Given the description of an element on the screen output the (x, y) to click on. 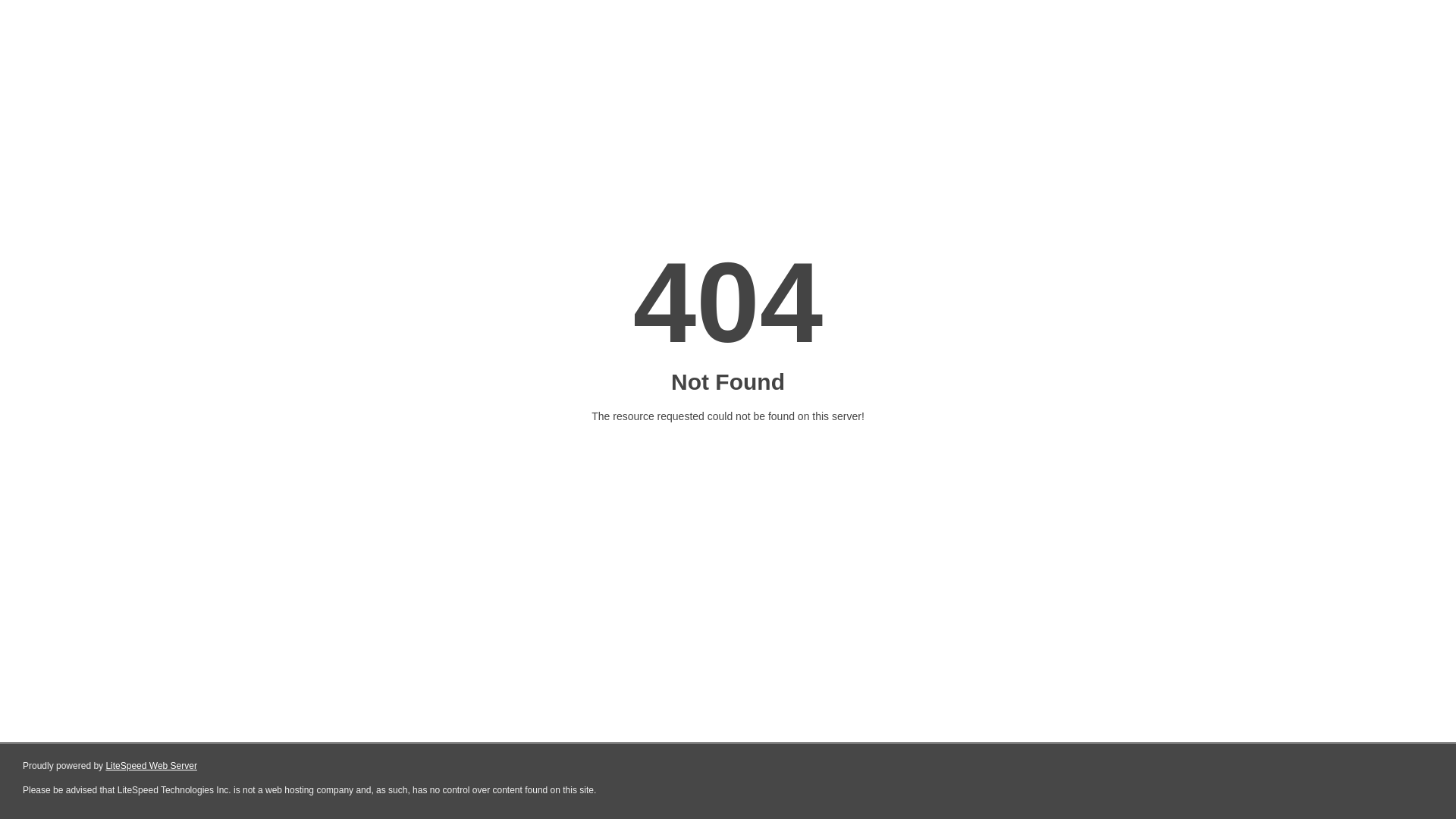
LiteSpeed Web Server Element type: text (151, 765)
